Given the description of an element on the screen output the (x, y) to click on. 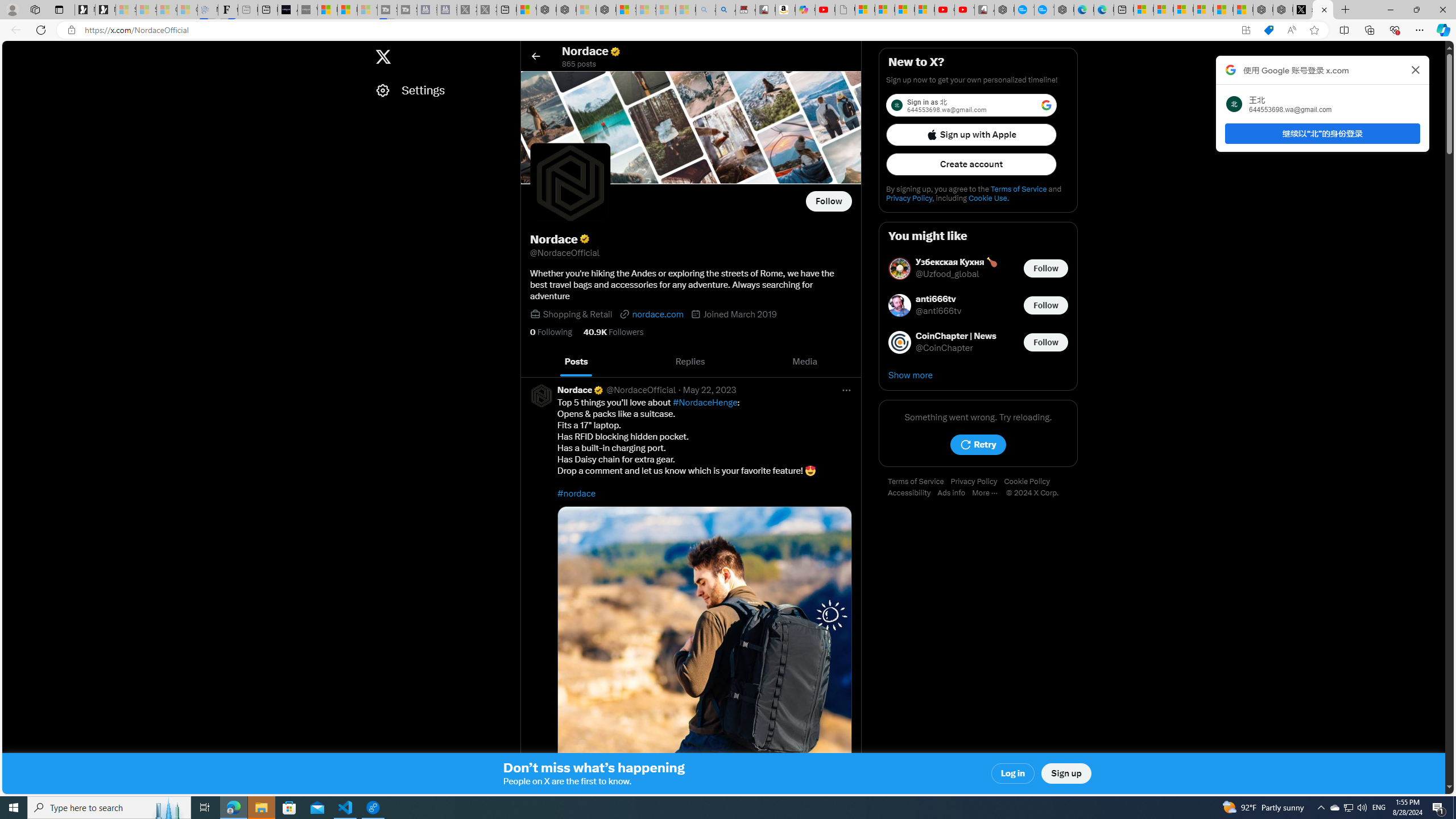
Next (848, 361)
Shopping & Retail (577, 313)
Square profile picture (541, 395)
CoinChapter | News @CoinChapter Follow @CoinChapter (978, 342)
Follow @NordaceOfficial (828, 201)
Copilot (804, 9)
Square profile picture (540, 395)
